Given the description of an element on the screen output the (x, y) to click on. 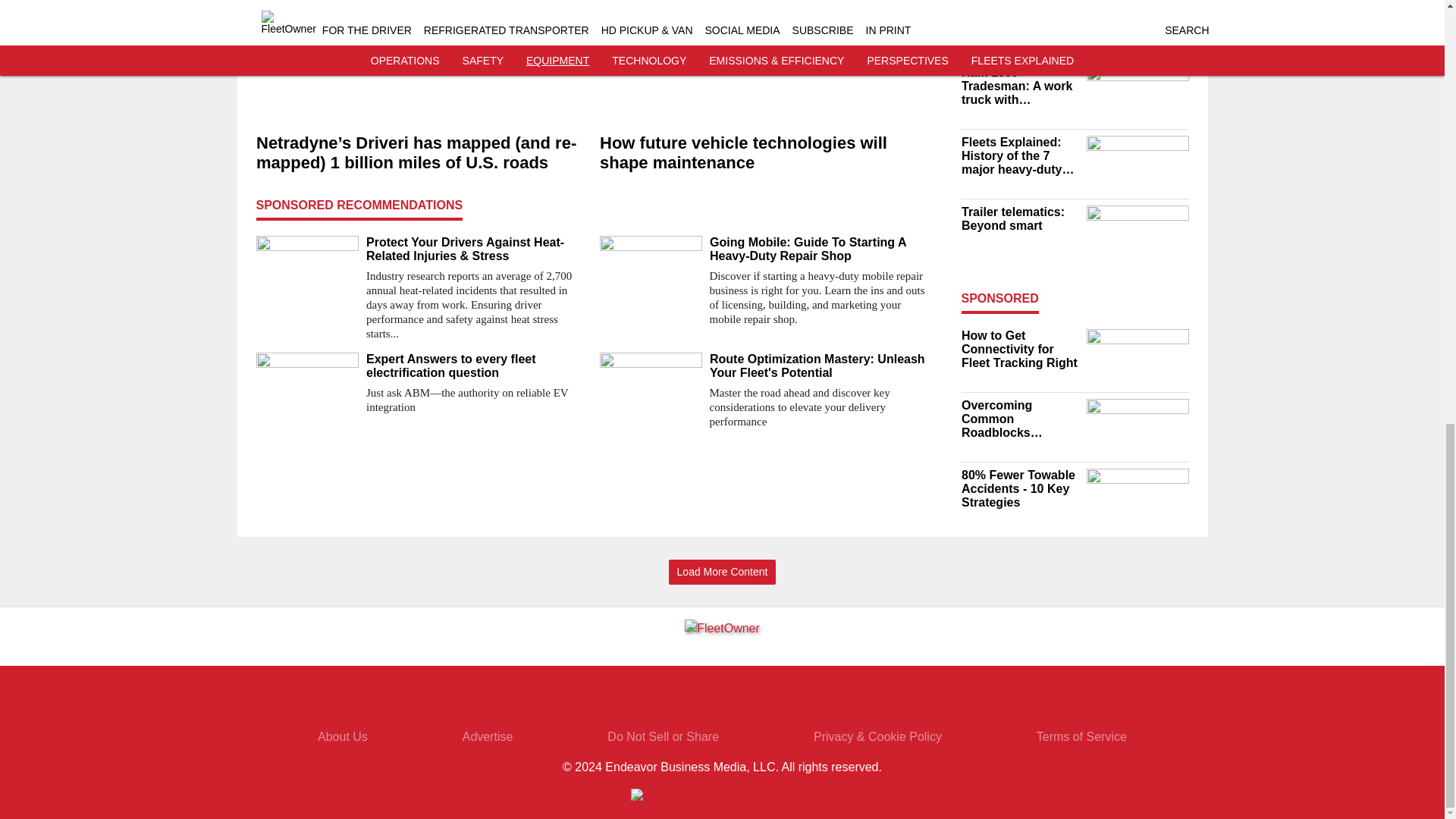
How future vehicle technologies will shape maintenance (764, 152)
Going Mobile: Guide To Starting A Heavy-Duty Repair Shop (820, 248)
Expert Answers to every fleet electrification question (476, 366)
Route Optimization Mastery: Unleash Your Fleet's Potential (820, 366)
